Given the description of an element on the screen output the (x, y) to click on. 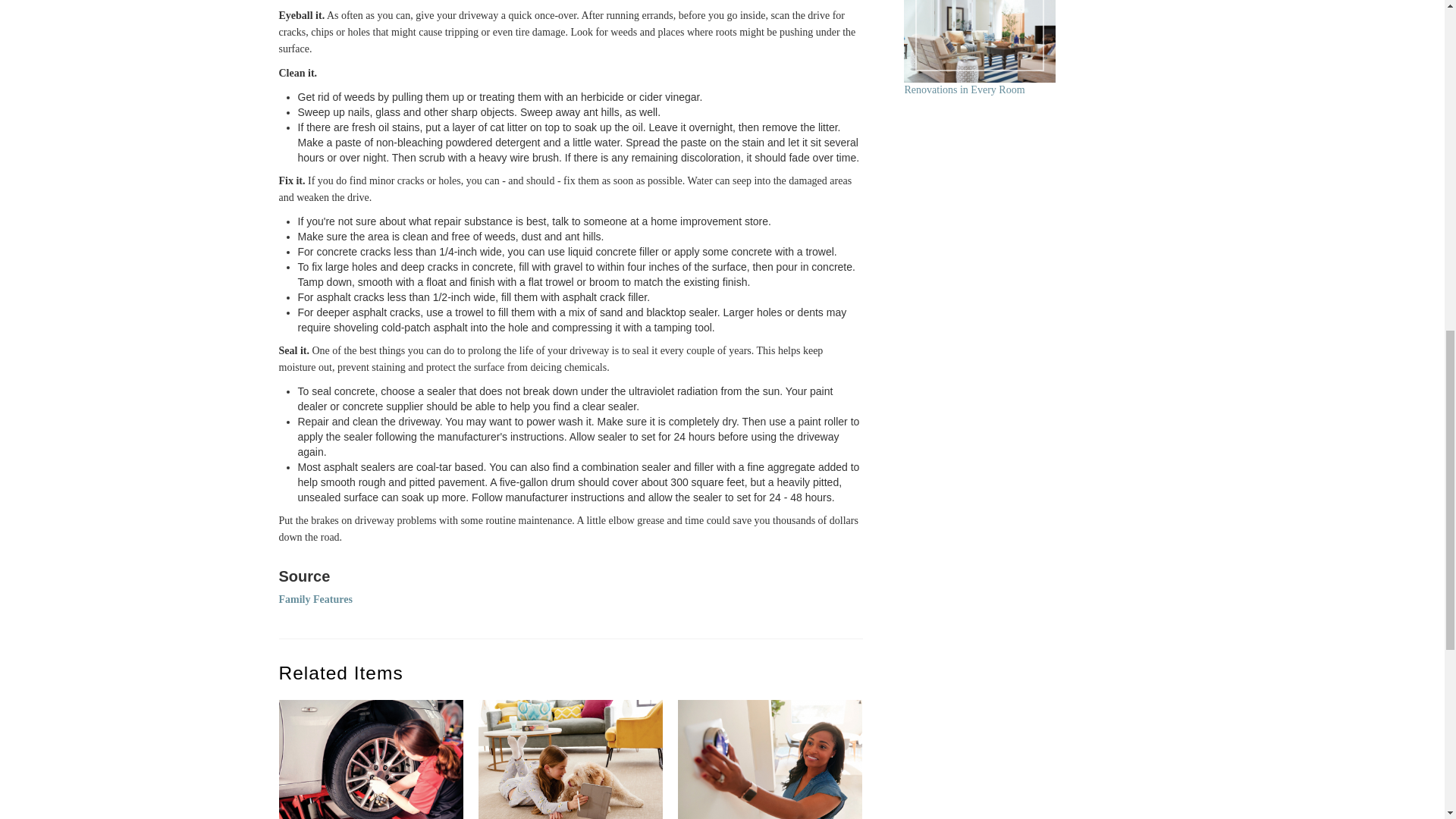
Advertisement (1017, 429)
Advertisement (1025, 787)
Continue reading (979, 40)
